Given the description of an element on the screen output the (x, y) to click on. 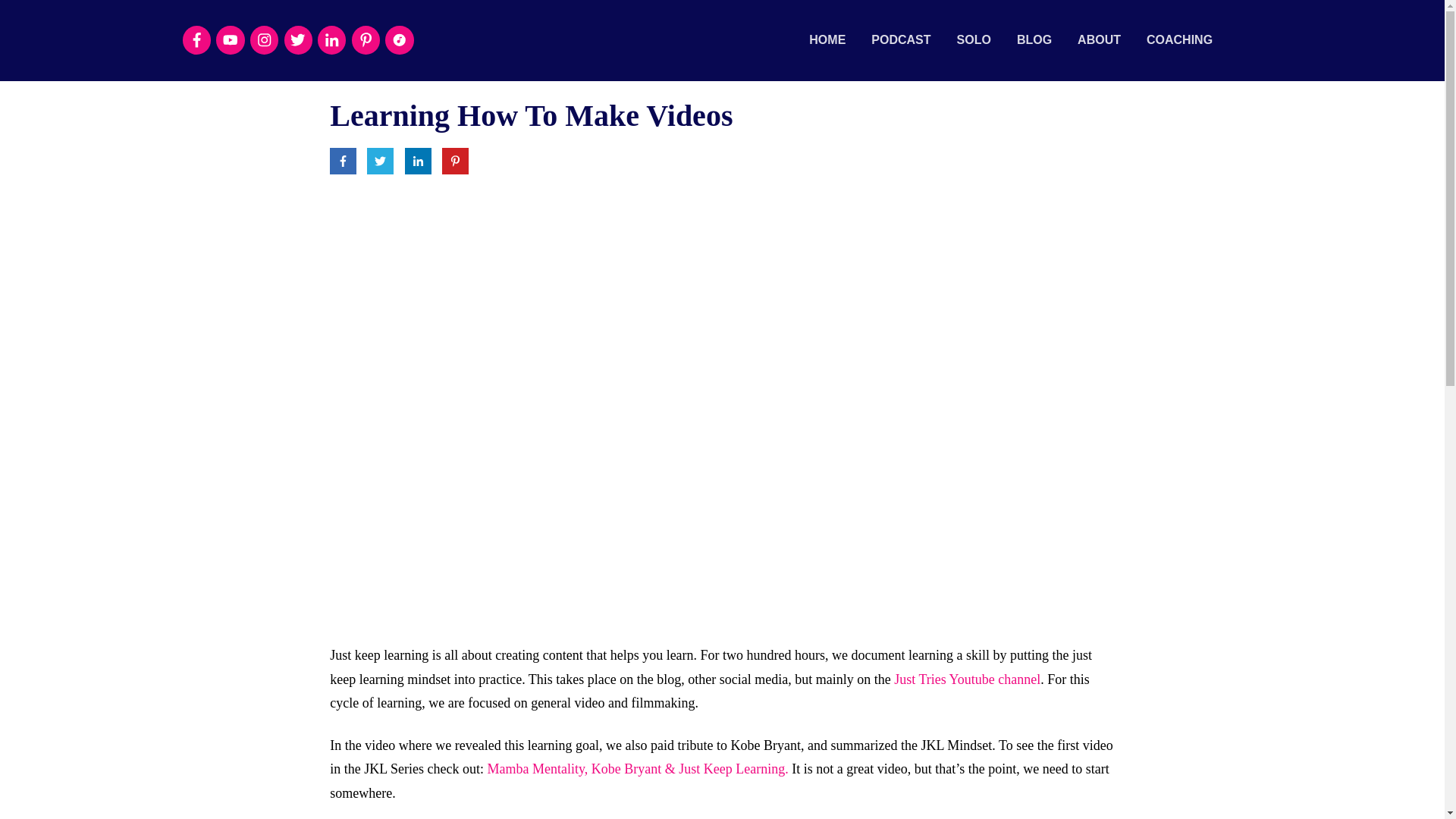
Learning How To Make Videos (531, 115)
SOLO (973, 39)
Learning How To Make Videos (531, 115)
BLOG (1033, 39)
HOME (827, 39)
COACHING (1179, 39)
Just Tries Youtube channel (967, 679)
ABOUT (1099, 39)
PODCAST (900, 39)
